Given the description of an element on the screen output the (x, y) to click on. 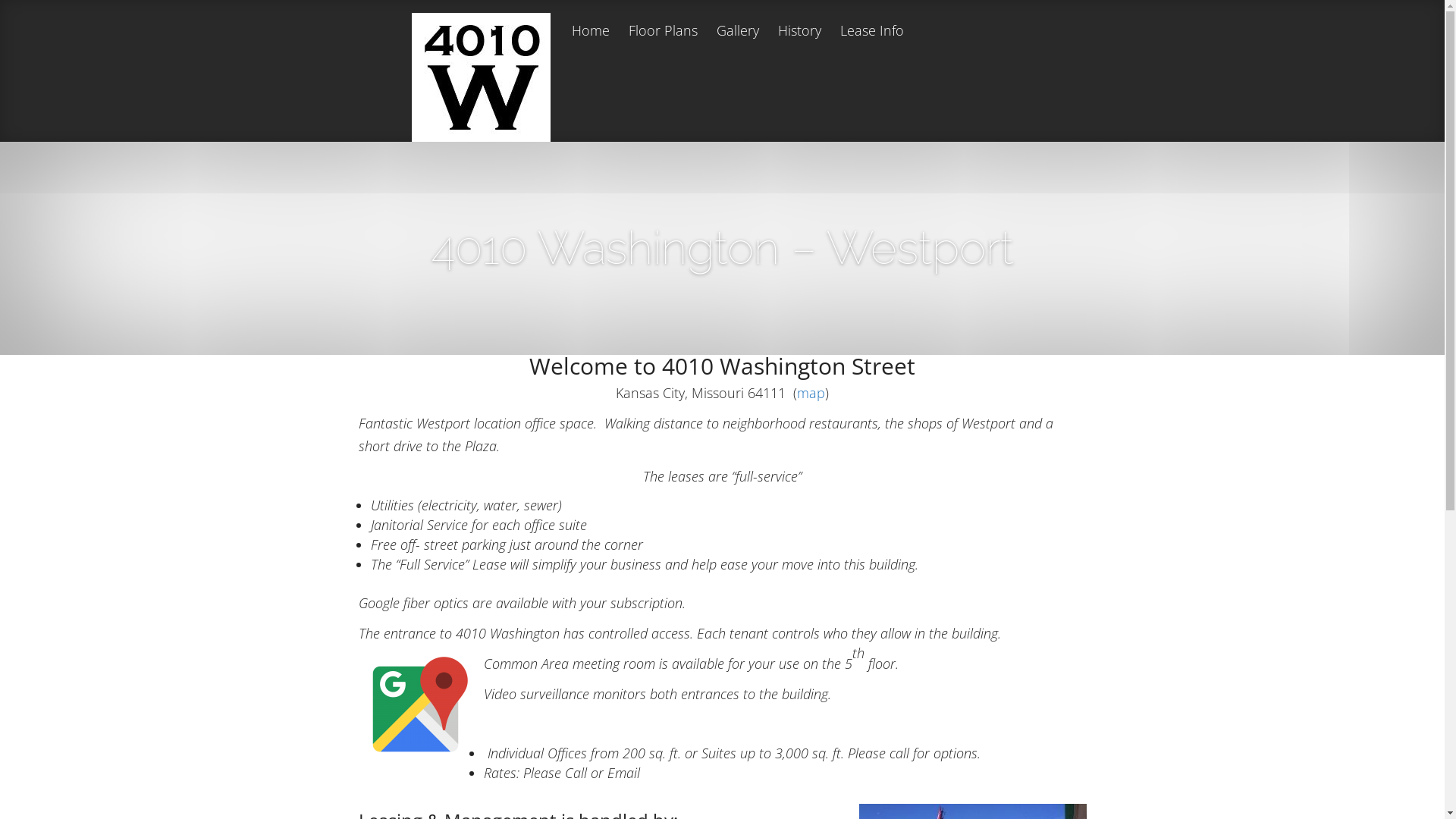
map Element type: text (811, 392)
Gallery Element type: text (736, 44)
Floor Plans Element type: text (662, 44)
Home Element type: text (590, 44)
Lease Info Element type: text (871, 44)
History Element type: text (799, 44)
